Given the description of an element on the screen output the (x, y) to click on. 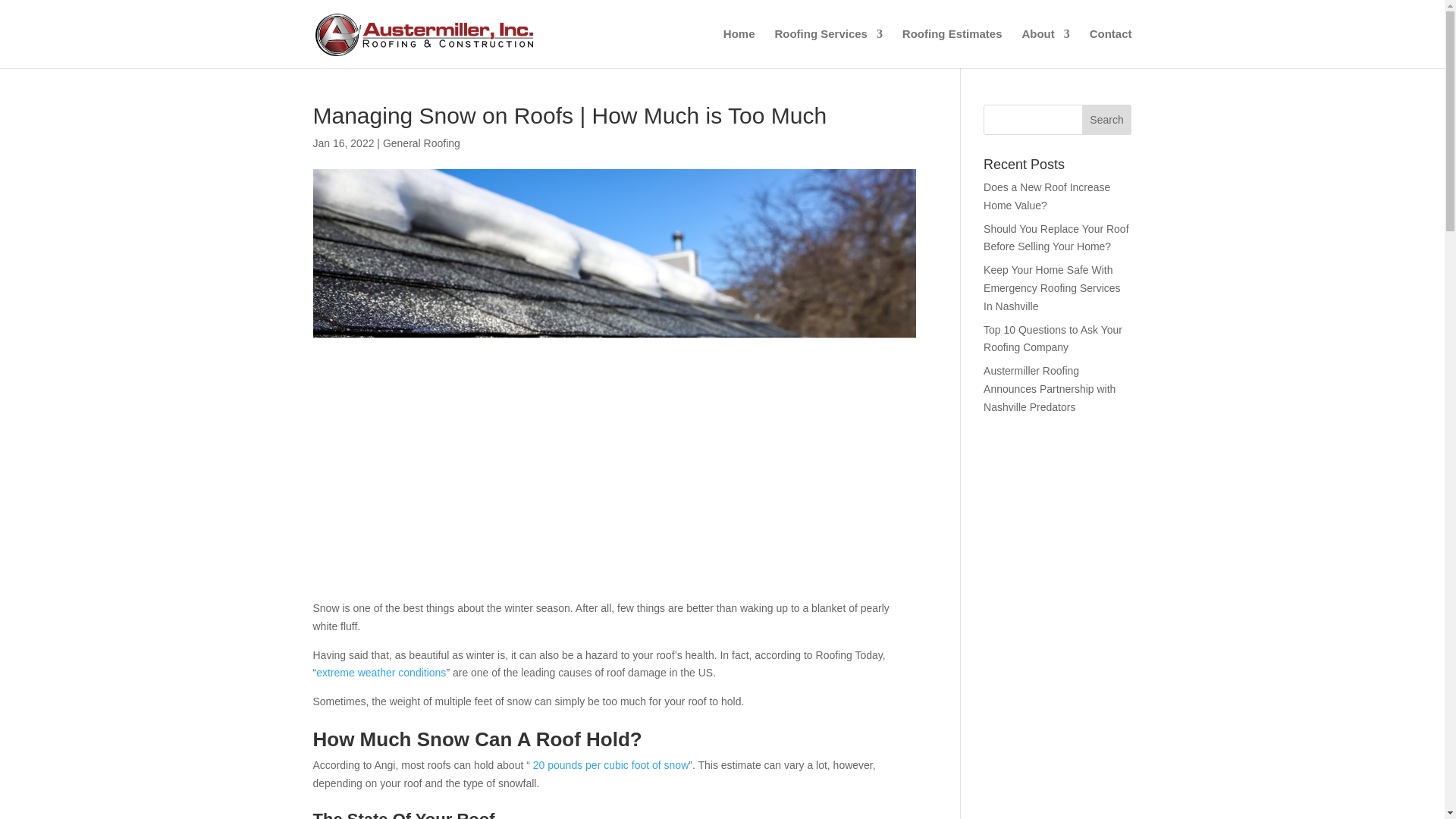
Search (1106, 119)
About (1045, 47)
Roofing Estimates (952, 47)
Roofing Services (828, 47)
